Given the description of an element on the screen output the (x, y) to click on. 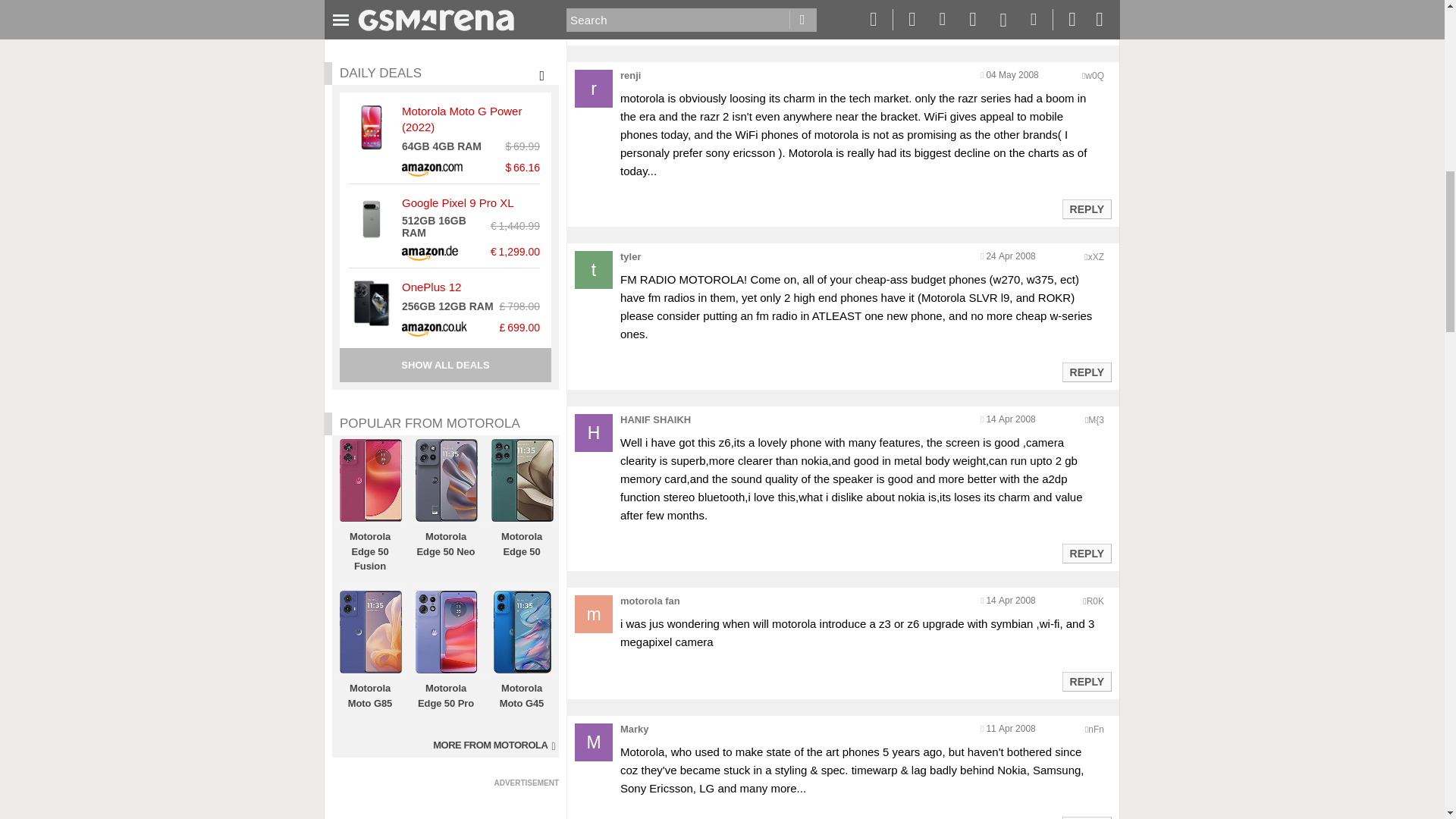
Encoded anonymized location (1095, 419)
Reply to this post (1086, 209)
Encoded anonymized location (1095, 256)
Encoded anonymized location (1094, 601)
Reply to this post (1086, 681)
Encoded anonymized location (1095, 728)
Reply to this post (1086, 28)
Encoded anonymized location (1093, 75)
Reply to this post (1086, 372)
Reply to this post (1086, 553)
